Given the description of an element on the screen output the (x, y) to click on. 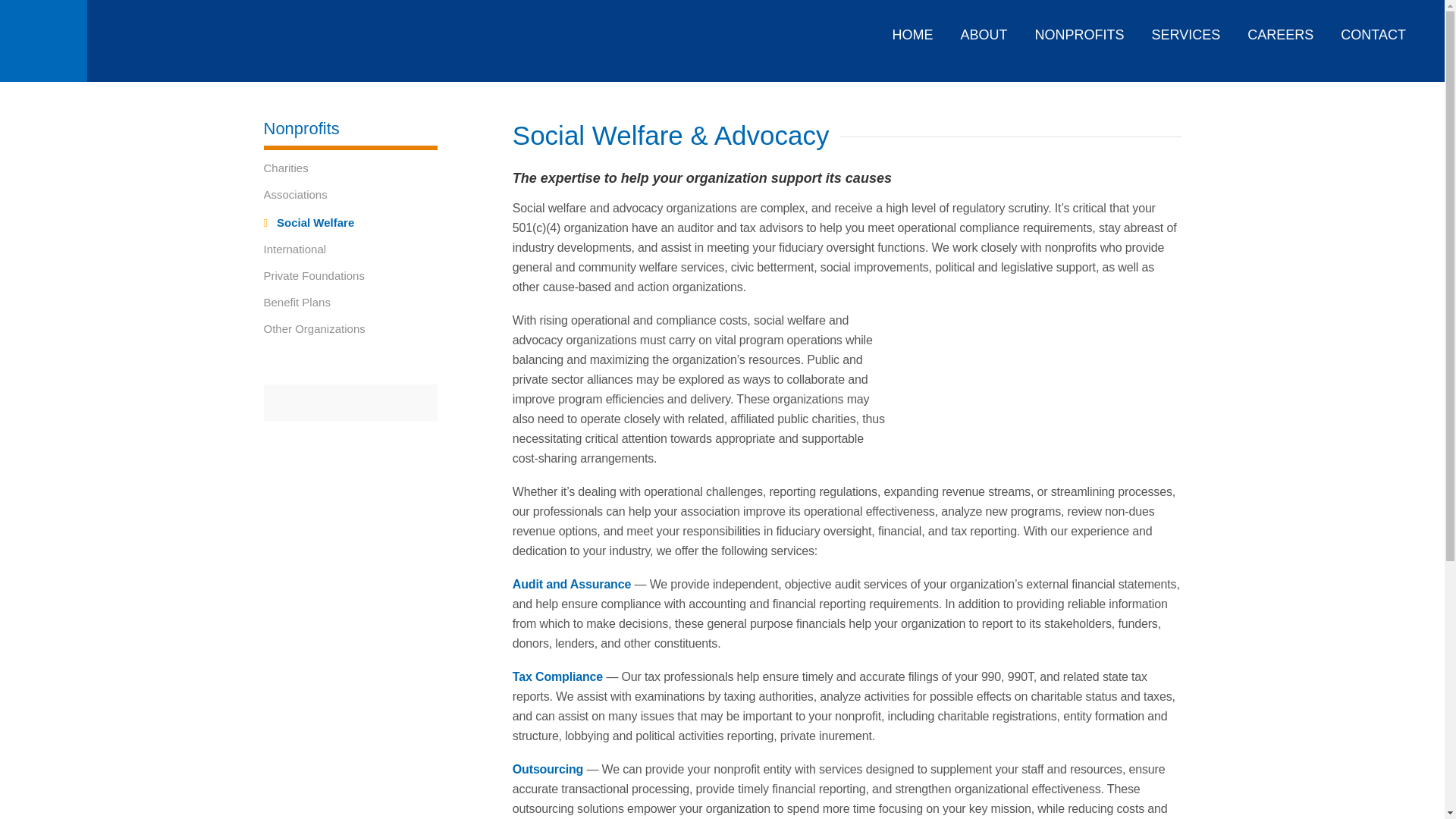
ABOUT (983, 29)
Associations (350, 194)
CONTACT (1372, 29)
SERVICES (1185, 29)
Charities (350, 168)
CAREERS (1280, 29)
Benefit Plans (350, 302)
HOME (912, 29)
NONPROFITS (1079, 29)
Private Foundations (350, 275)
